Given the description of an element on the screen output the (x, y) to click on. 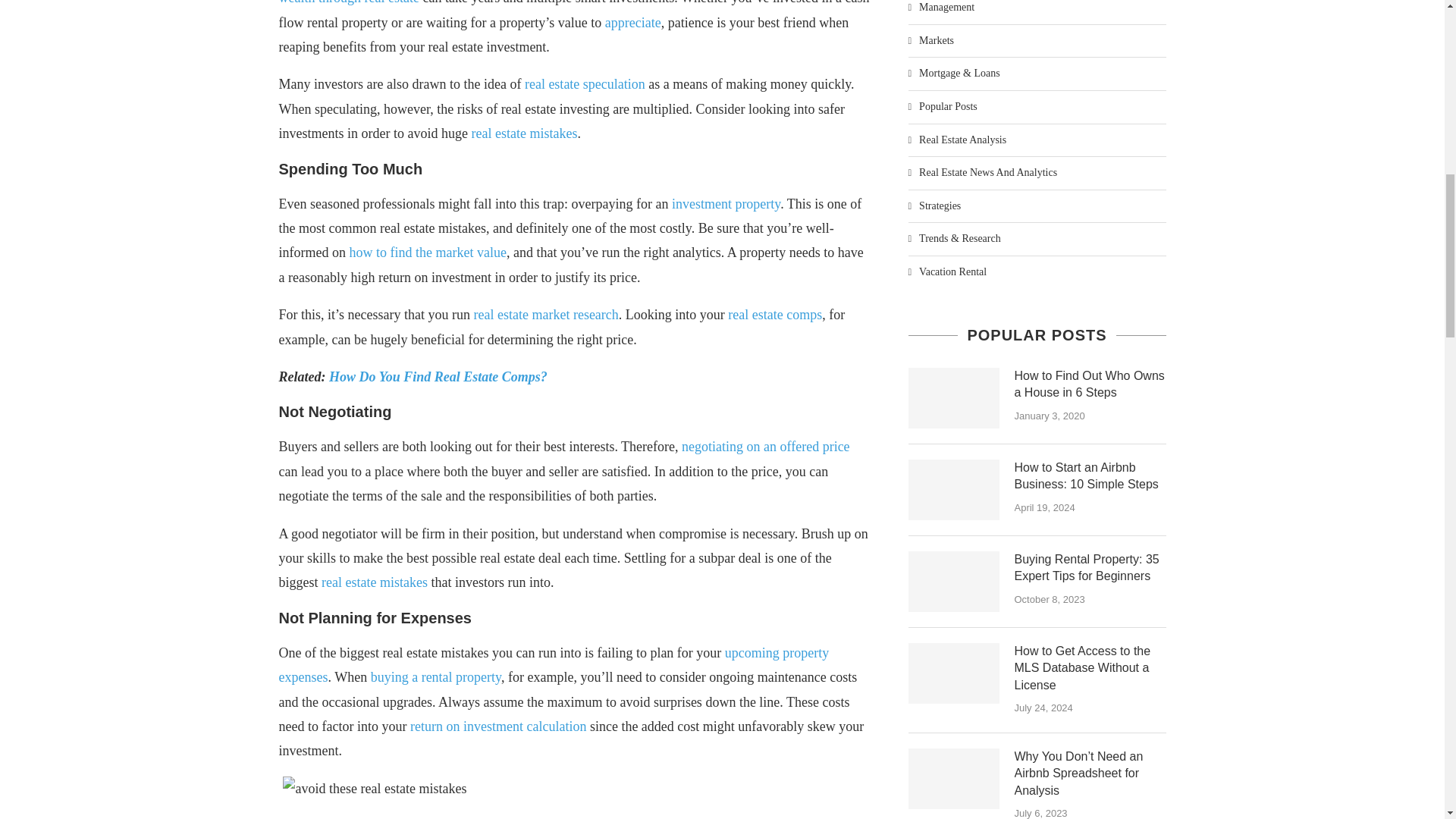
upcoming property expenses (554, 664)
real estate mistakes (374, 581)
appreciate (633, 22)
real estate comps (775, 314)
investment property (725, 203)
buying a rental property (435, 676)
real estate market research (545, 314)
return on investment calculation (498, 726)
How Do You Find Real Estate Comps? (438, 376)
real estate mistakes (523, 133)
